Given the description of an element on the screen output the (x, y) to click on. 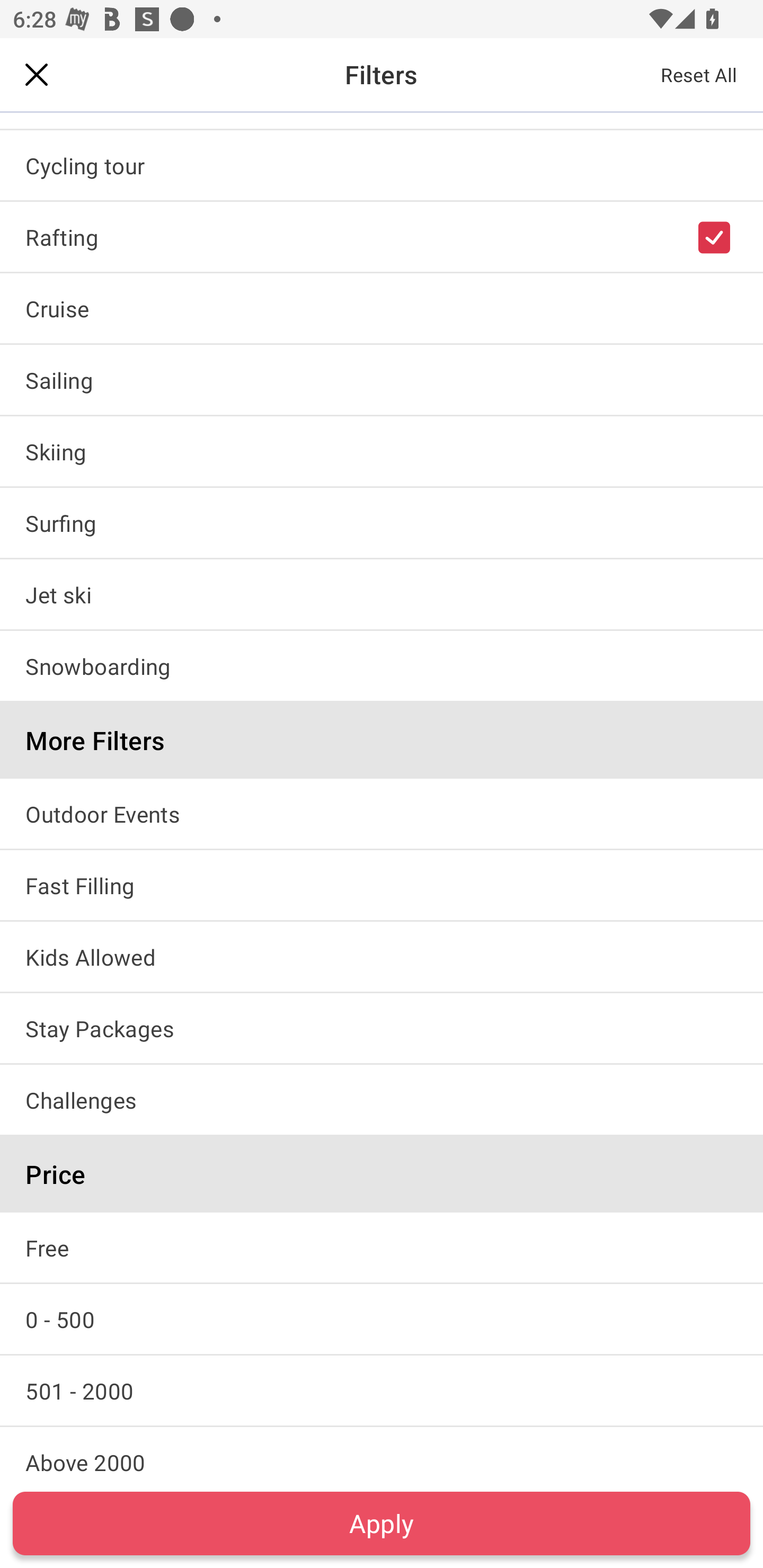
Close (36, 74)
Reset All (699, 74)
Cycling tour (381, 165)
Rafting  (381, 236)
Cruise (381, 307)
Sailing (381, 379)
Skiing (381, 451)
Surfing (381, 522)
Jet ski (381, 593)
Snowboarding (381, 665)
Outdoor Events (381, 813)
Fast Filling (381, 884)
Kids Allowed (381, 955)
Stay Packages (381, 1027)
Challenges (381, 1099)
Free (381, 1247)
0 - 500 (381, 1319)
501 - 2000 (381, 1390)
Above 2000 (381, 1452)
Apply (381, 1523)
